Given the description of an element on the screen output the (x, y) to click on. 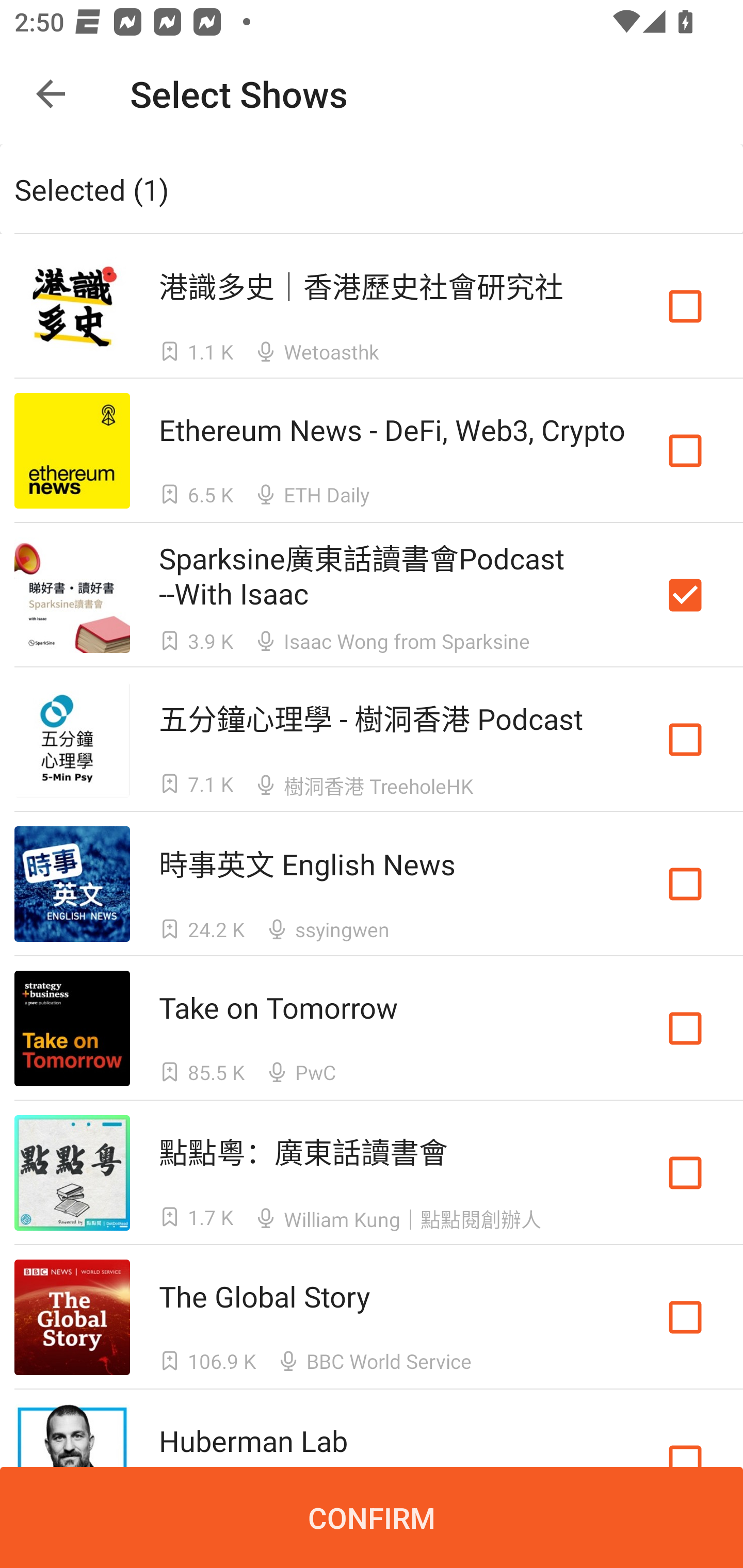
Navigate up (50, 93)
港識多史｜香港歷史社會研究社 港識多史｜香港歷史社會研究社  1.1 K  Wetoasthk (371, 305)
Take on Tomorrow Take on Tomorrow  85.5 K  PwC (371, 1028)
CONFIRM (371, 1517)
